Given the description of an element on the screen output the (x, y) to click on. 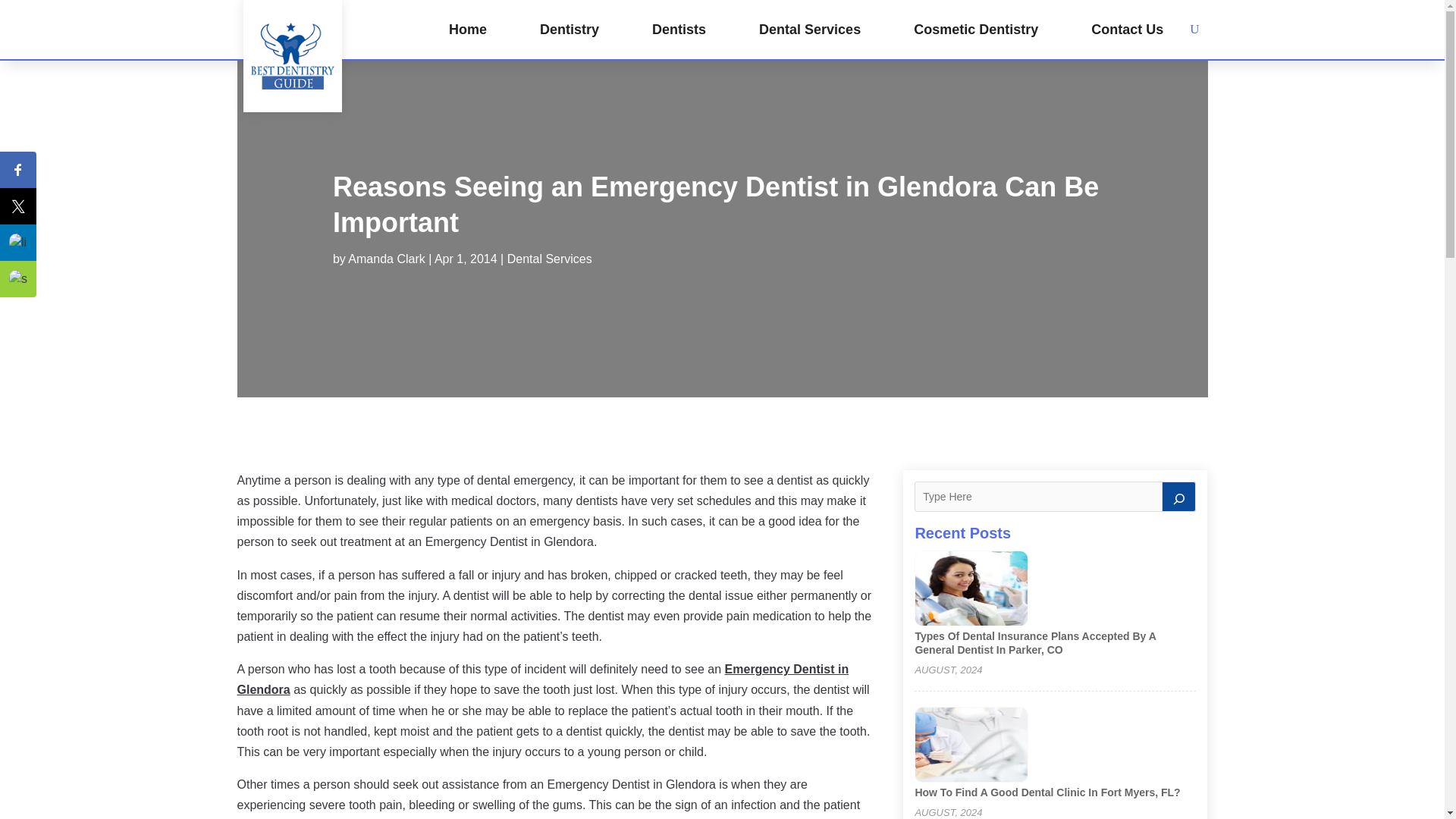
Posts by Amanda Clark (386, 258)
Dental Services (809, 29)
Dental Services (549, 258)
Dentists (679, 29)
Amanda Clark (386, 258)
Contact Us (1126, 29)
How To Find A Good Dental Clinic In Fort Myers, FL? (1046, 792)
Dentistry (569, 29)
Cosmetic Dentistry (976, 29)
